Given the description of an element on the screen output the (x, y) to click on. 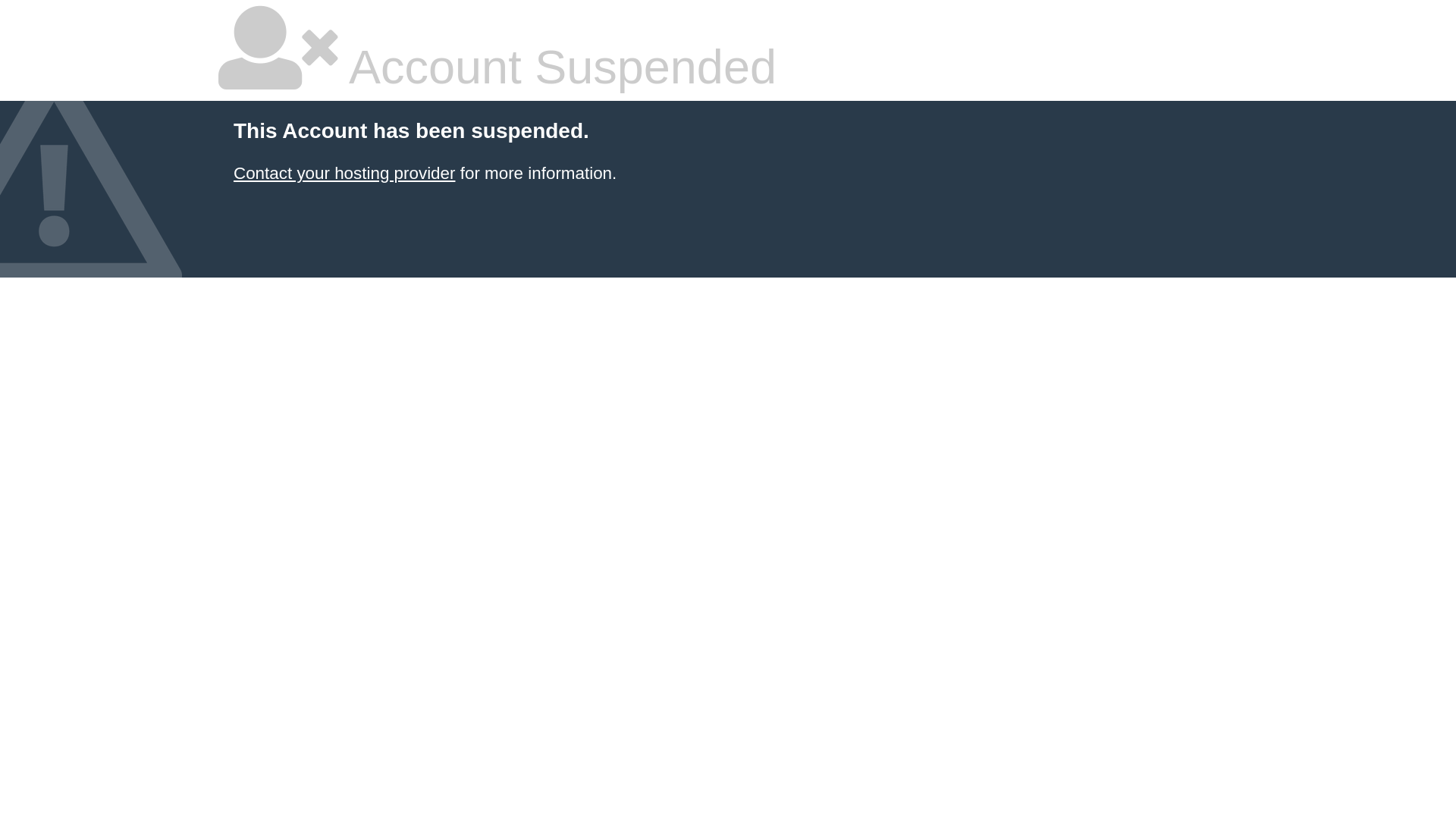
Contact your hosting provider Element type: text (344, 172)
